Given the description of an element on the screen output the (x, y) to click on. 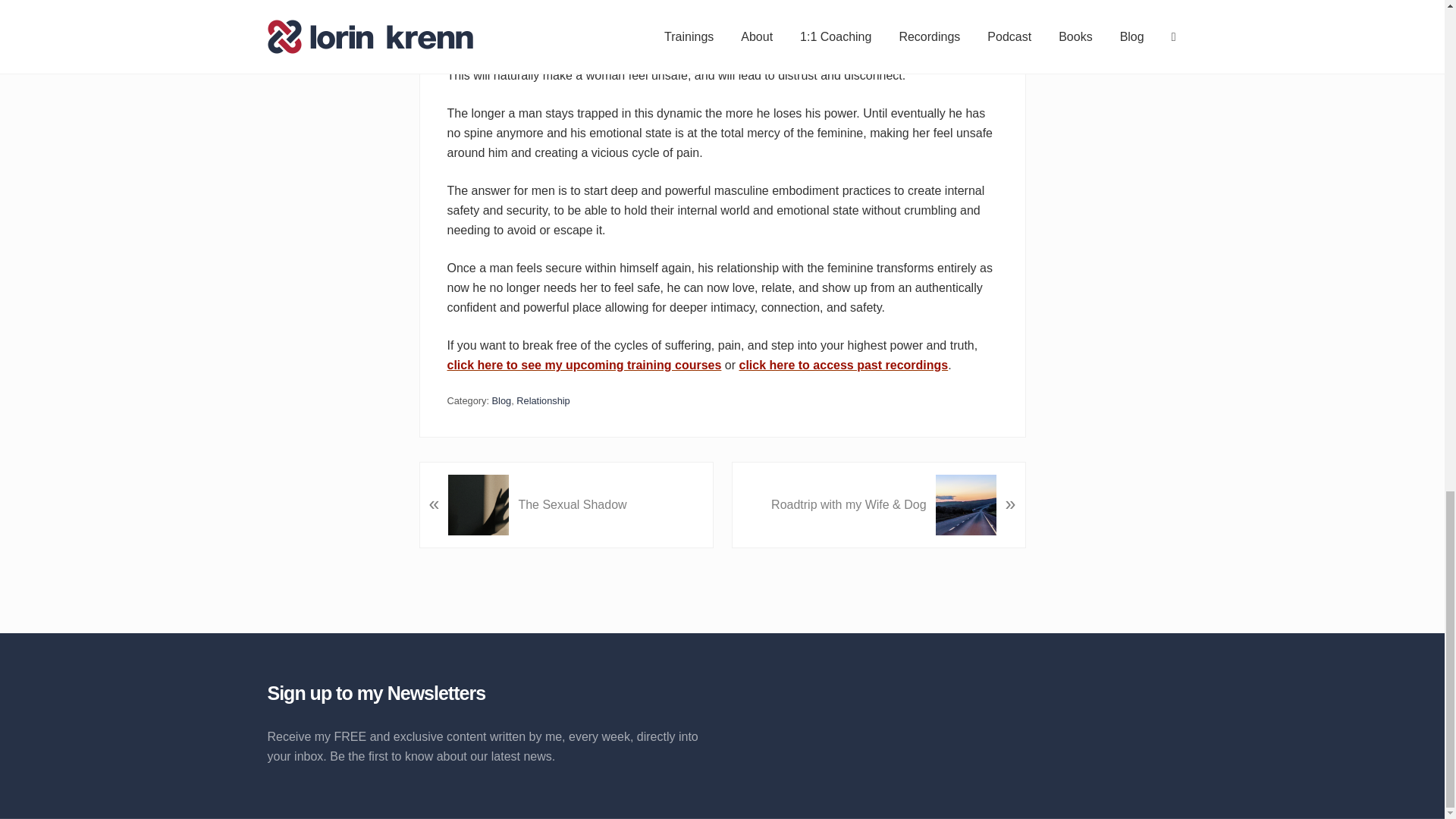
click here to see my upcoming training courses (584, 364)
Blog (502, 400)
Relationship (542, 400)
click here to access past recordings (844, 364)
